Given the description of an element on the screen output the (x, y) to click on. 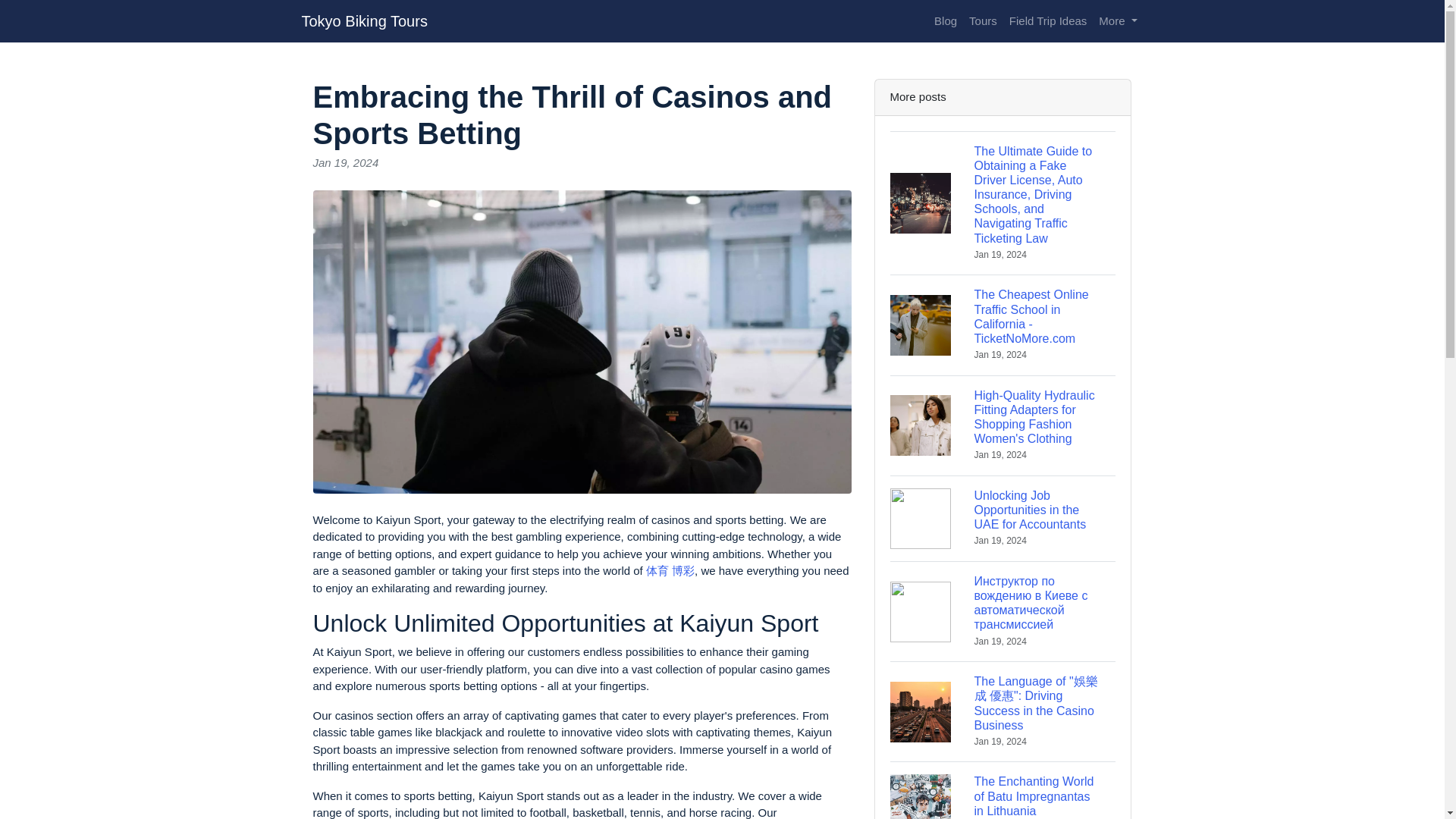
More (1117, 21)
Tours (982, 21)
Blog (945, 21)
Tokyo Biking Tours (364, 20)
Field Trip Ideas (1048, 21)
